Given the description of an element on the screen output the (x, y) to click on. 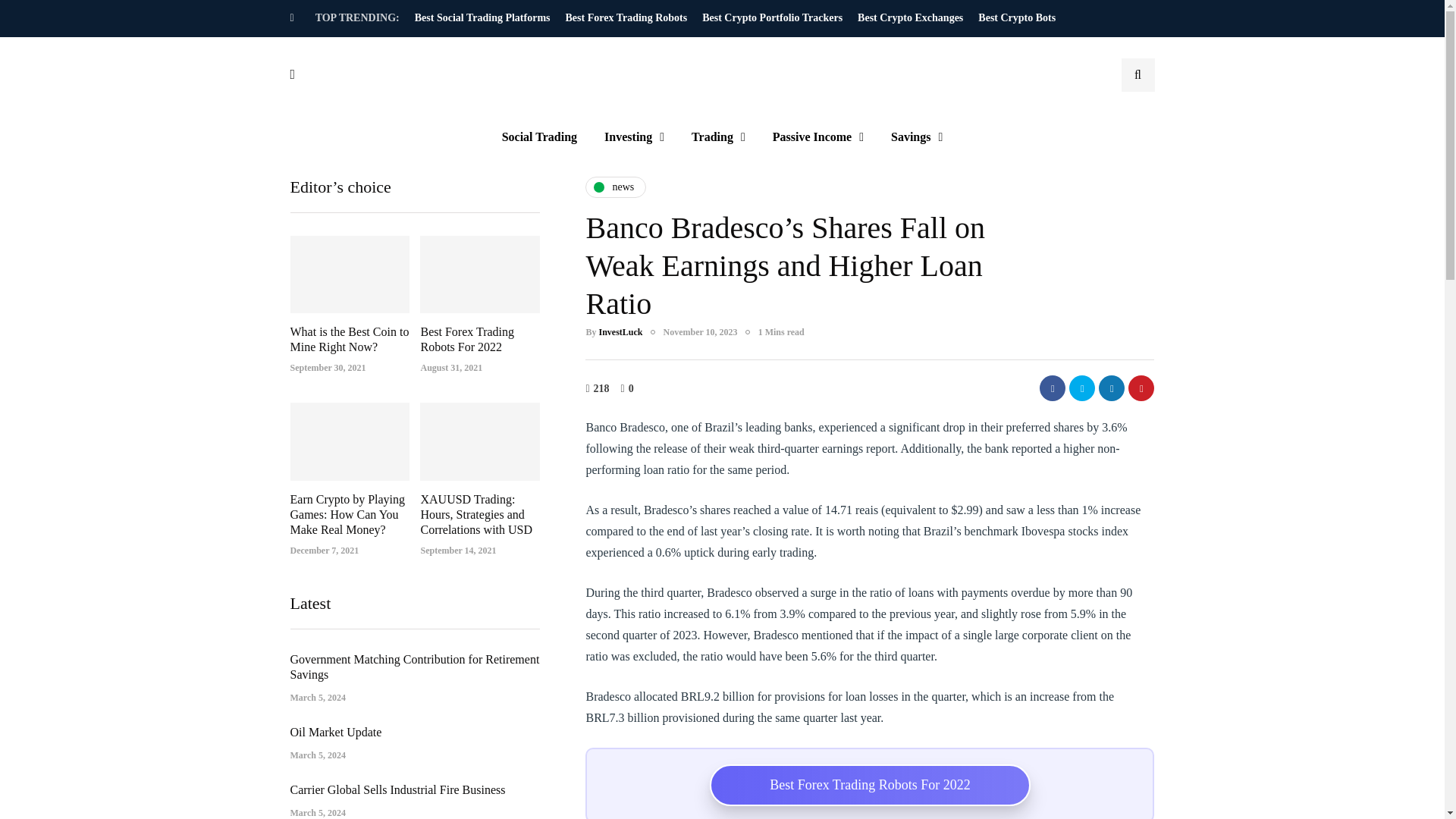
TOP TRENDING: (361, 18)
Trading (718, 136)
Passive Income (817, 136)
Pin this (1141, 388)
Social Trading (539, 136)
Share with LinkedIn (1111, 388)
Best Crypto Exchanges (910, 18)
Best Crypto Portfolio Trackers (772, 18)
What is the Best Coin to Mine Right Now? (349, 338)
Tweet this (1081, 388)
Share with Facebook (1052, 388)
Best Social Trading Platforms (482, 18)
Best Crypto Bots (1016, 18)
Posts by InvestLuck (620, 330)
Investing (634, 136)
